Given the description of an element on the screen output the (x, y) to click on. 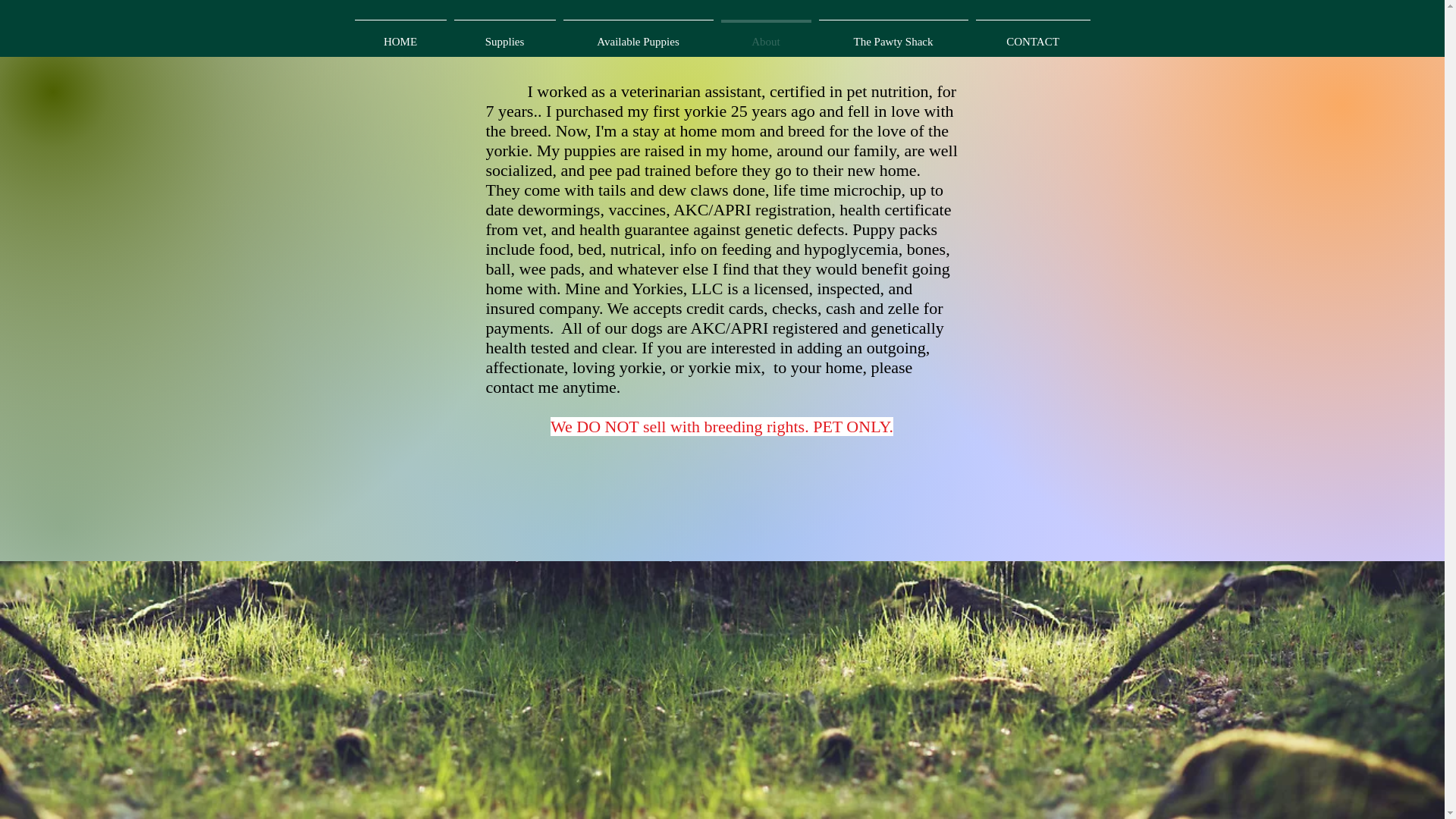
HOME (399, 34)
Available Puppies (638, 34)
Supplies (504, 34)
CONTACT (1033, 34)
The Pawty Shack (892, 34)
About (766, 34)
